Given the description of an element on the screen output the (x, y) to click on. 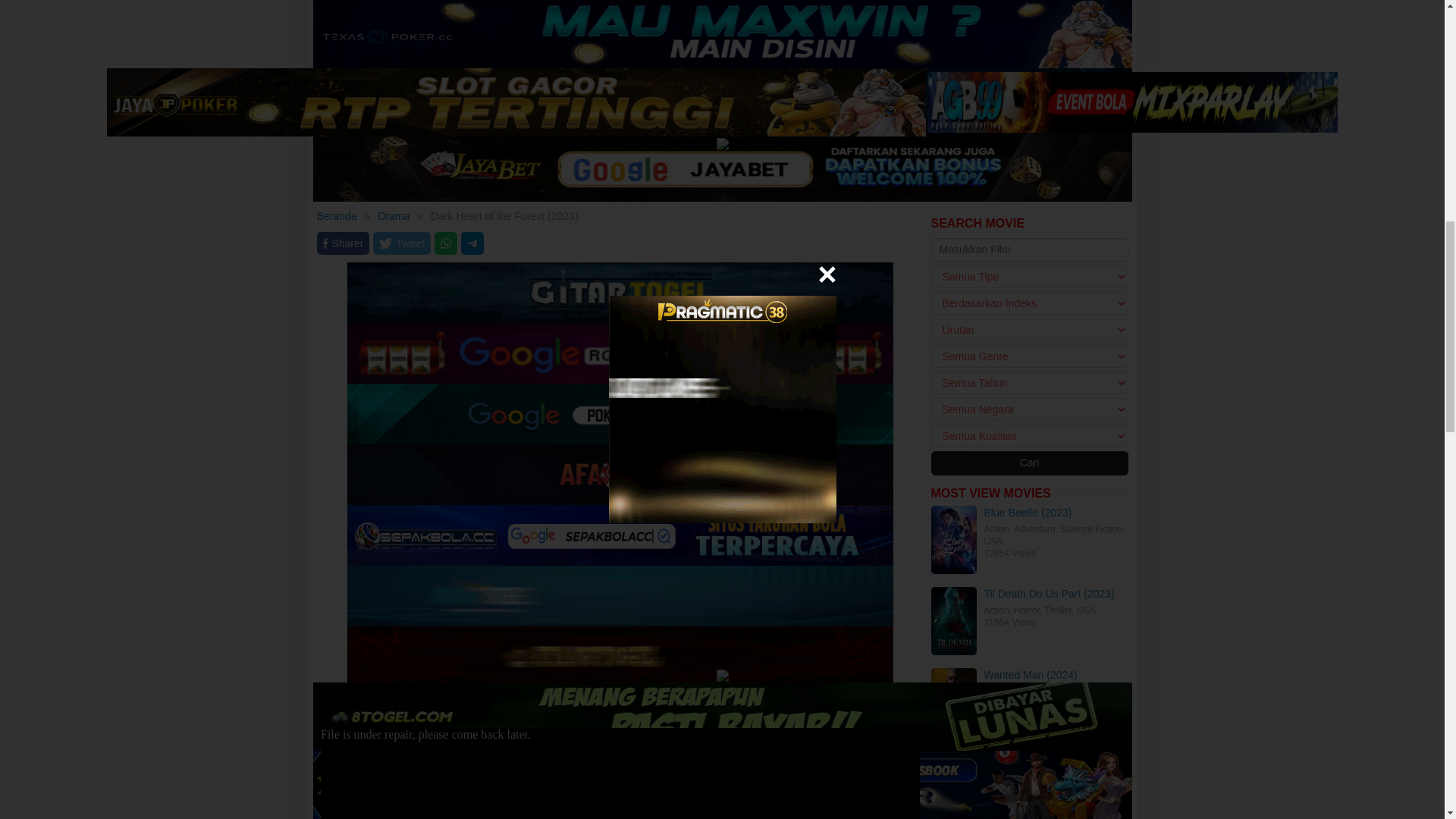
Cari (1029, 463)
